Given the description of an element on the screen output the (x, y) to click on. 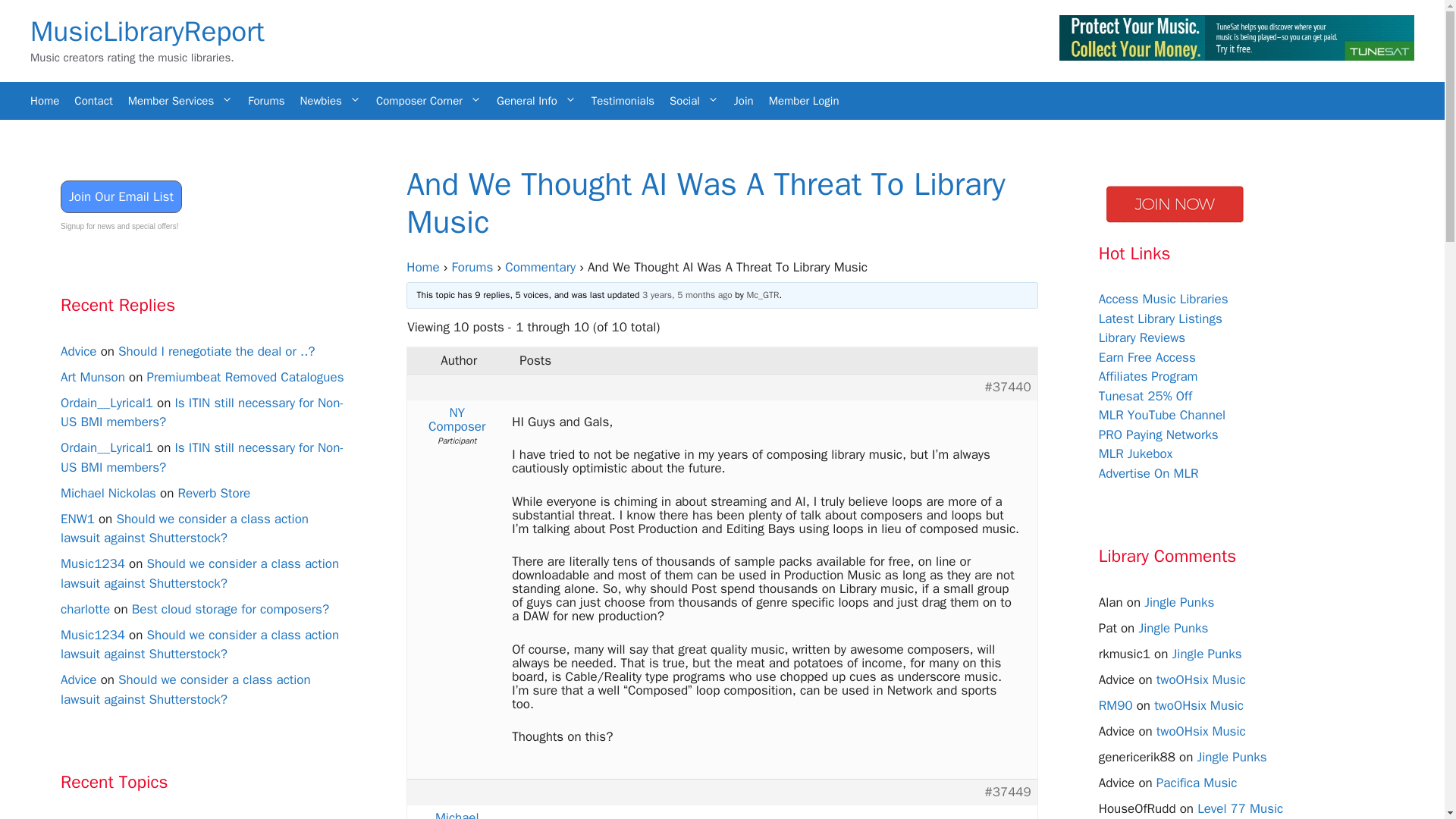
MusicLibraryReport (147, 31)
Composer Corner (428, 100)
View Michael Nickolas's profile (456, 815)
Home (44, 100)
Contact (92, 100)
Reply To: And We Thought AI Was A Threat To Library Music (687, 295)
Member Services (180, 100)
Newbies (330, 100)
Forums (266, 100)
View Advice's profile (79, 350)
